Given the description of an element on the screen output the (x, y) to click on. 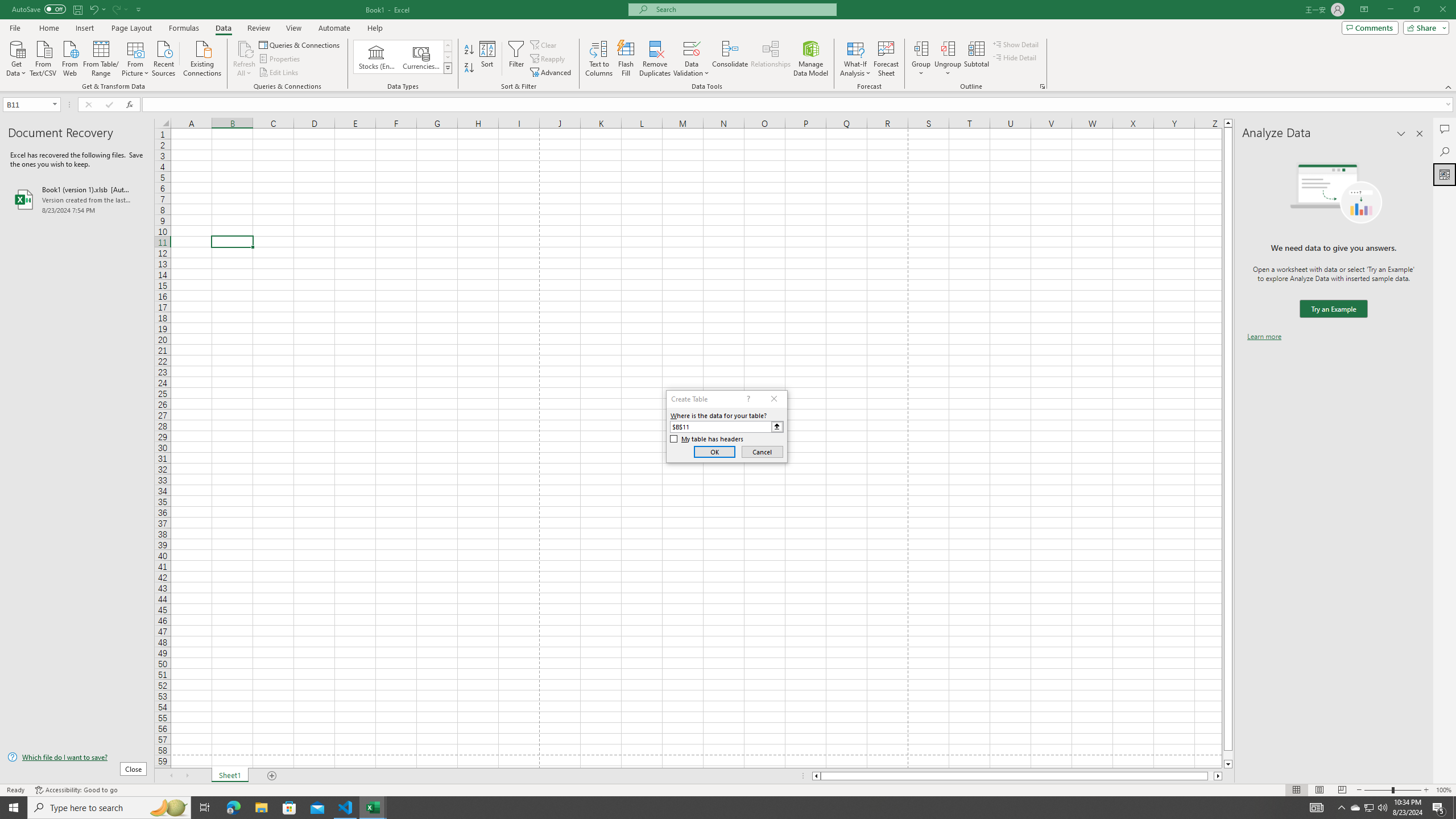
Relationships (770, 58)
Sort... (487, 58)
Forecast Sheet (885, 58)
Ungroup... (947, 48)
What-If Analysis (855, 58)
Accessibility Checker Accessibility: Good to go (76, 790)
Microsoft search (742, 9)
Which file do I want to save? (77, 757)
Page down (1228, 755)
Insert (83, 28)
Stocks (English) (375, 56)
Text to Columns... (598, 58)
